Given the description of an element on the screen output the (x, y) to click on. 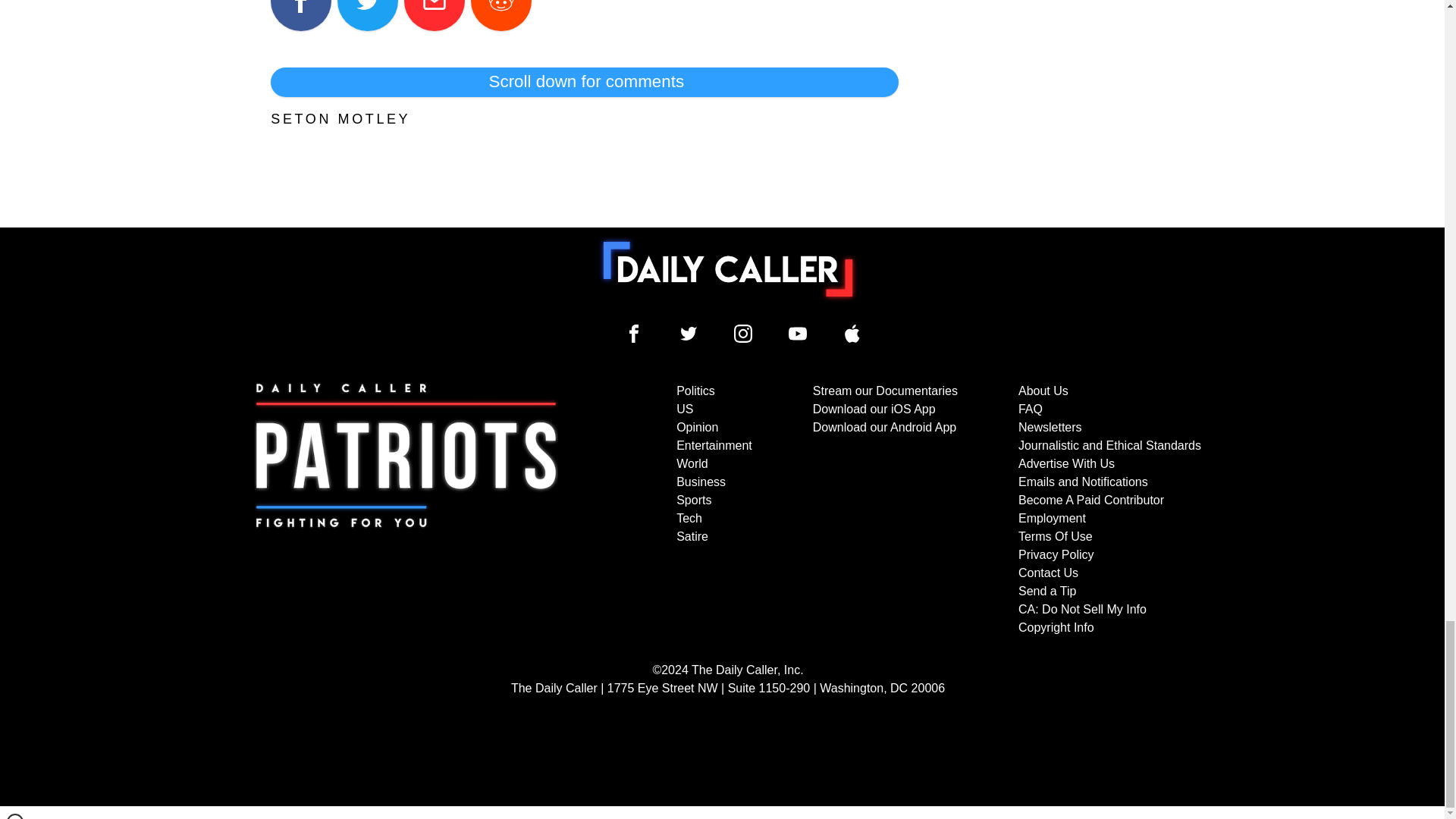
Daily Caller YouTube (797, 333)
Subscribe to The Daily Caller (405, 509)
Scroll down for comments (584, 81)
Daily Caller YouTube (852, 333)
Daily Caller Facebook (633, 333)
Daily Caller Twitter (688, 333)
Daily Caller Instagram (742, 333)
To home page (727, 268)
